Given the description of an element on the screen output the (x, y) to click on. 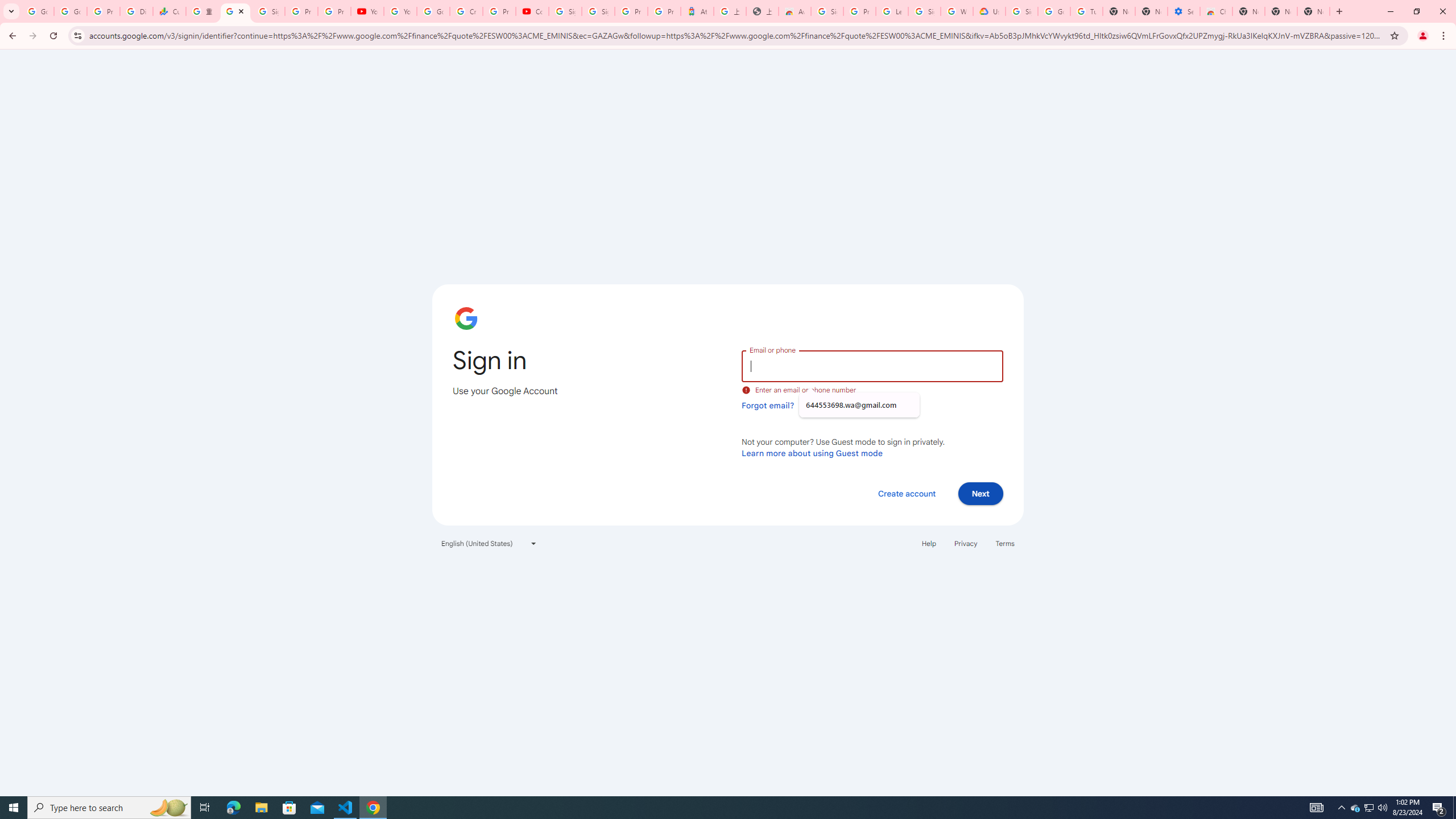
Atour Hotel - Google hotels (697, 11)
Who are Google's partners? - Privacy and conditions - Google (957, 11)
Sign in - Google Accounts (1021, 11)
Sign in - Google Accounts (235, 11)
New Tab (1313, 11)
Google Account Help (433, 11)
